Given the description of an element on the screen output the (x, y) to click on. 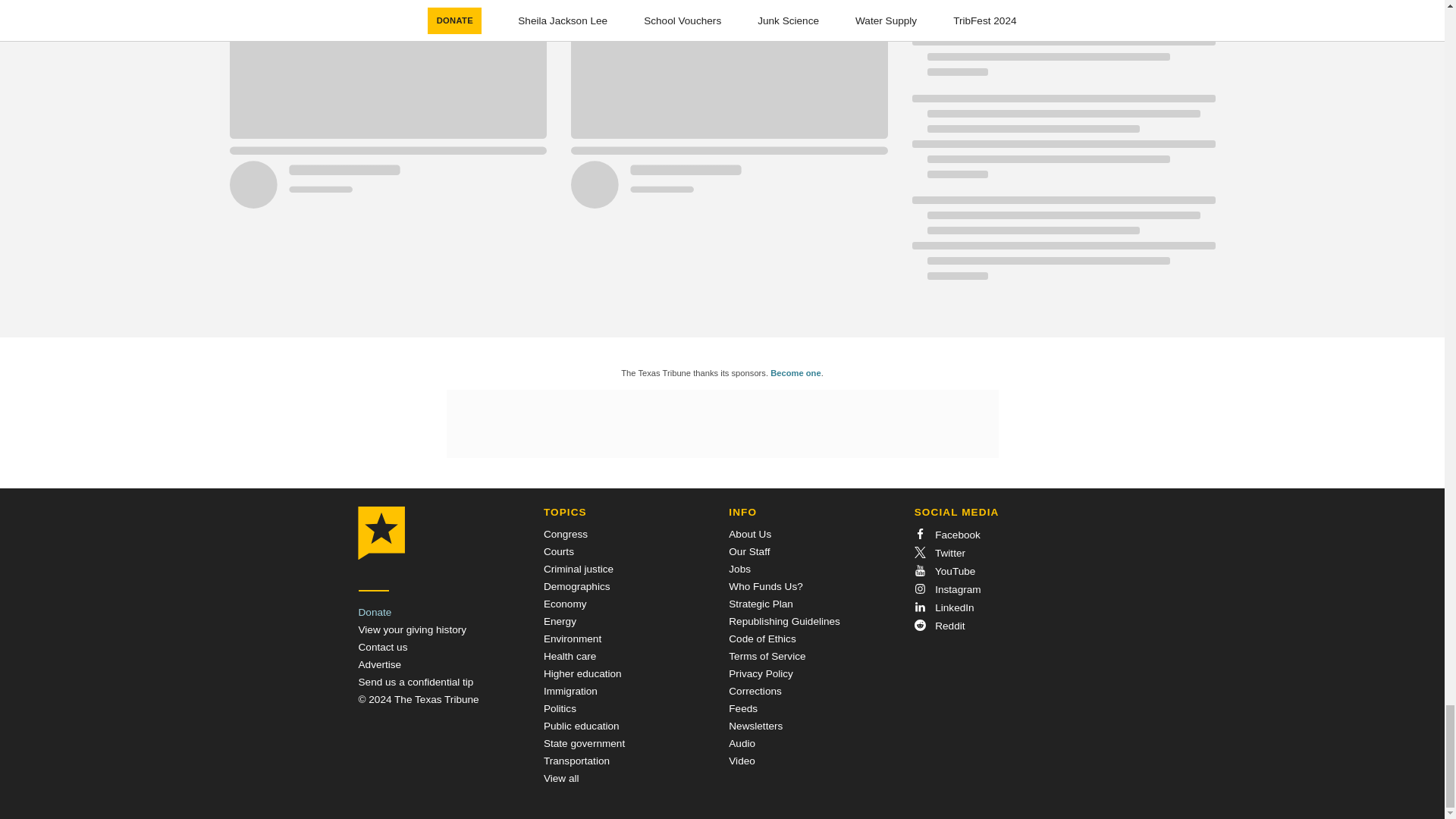
Strategic Plan (761, 603)
Feeds (743, 708)
Audio (742, 743)
Donate (374, 612)
About Us (750, 533)
Advertise (379, 664)
Newsletters (756, 726)
Privacy Policy (761, 673)
Terms of Service (767, 655)
Send a Tip (415, 681)
